Given the description of an element on the screen output the (x, y) to click on. 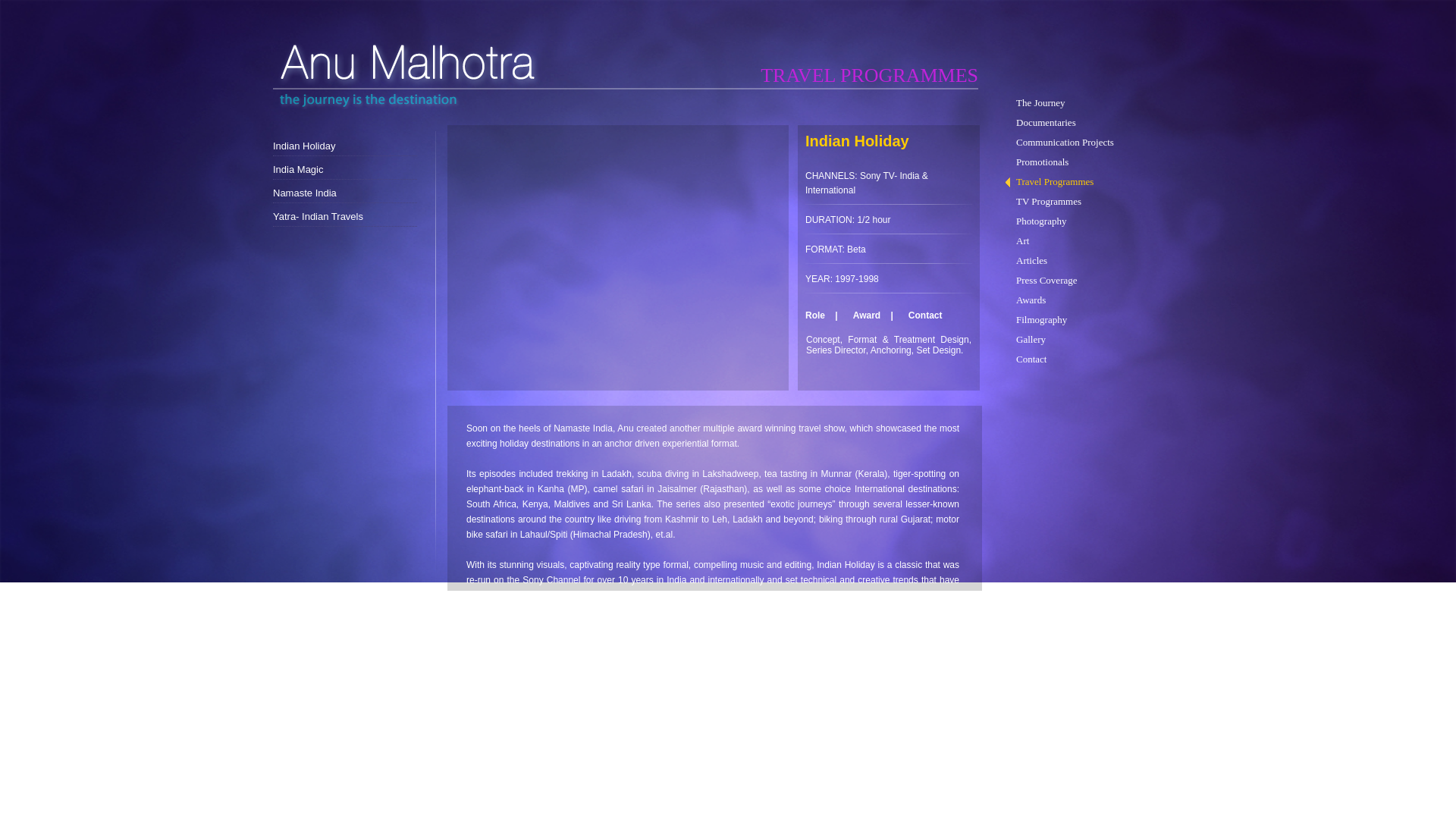
TV Programmes (1083, 201)
Press Coverage (1083, 280)
Filmography (1083, 319)
Art (1083, 241)
The Journey (1083, 102)
Photography (1083, 221)
Travel Programmes (1083, 182)
Articles (1083, 260)
Documentaries (1083, 122)
India Magic (344, 167)
